Given the description of an element on the screen output the (x, y) to click on. 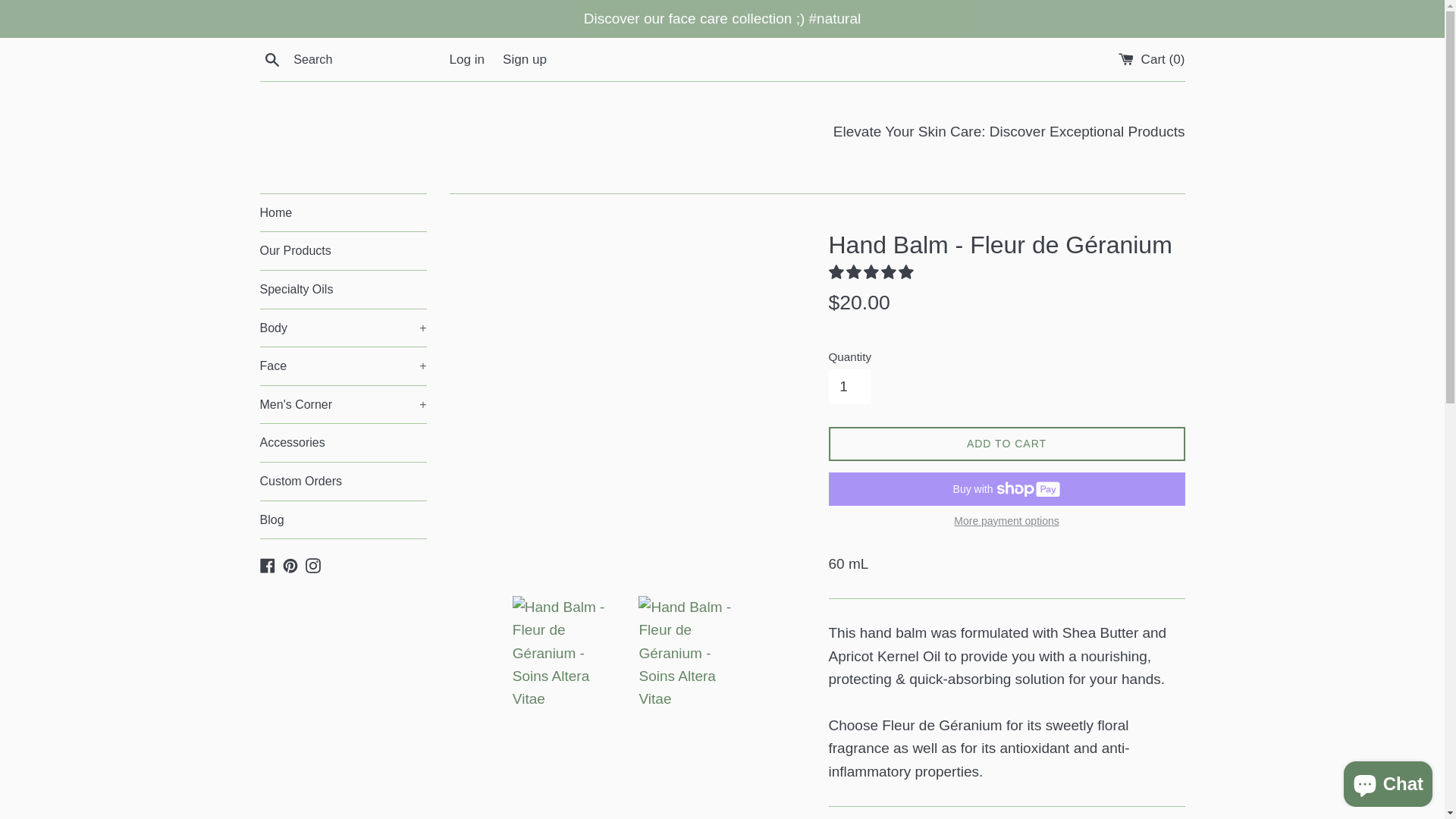
Accessories Element type: text (342, 442)
ADD TO CART Element type: text (1006, 443)
Discover our face care collection ;) #natural Element type: text (722, 18)
Our Products Element type: text (342, 250)
Facebook Element type: text (266, 564)
Face
+ Element type: text (342, 366)
Men's Corner
+ Element type: text (342, 404)
More payment options Element type: text (1006, 520)
Log in Element type: text (466, 59)
Instagram Element type: text (312, 564)
Search Element type: text (271, 59)
Cart (0) Element type: text (1151, 59)
Home Element type: text (342, 213)
Custom Orders Element type: text (342, 481)
Shopify online store chat Element type: hover (1388, 780)
Specialty Oils Element type: text (342, 289)
Blog Element type: text (342, 520)
Pinterest Element type: text (290, 564)
Body
+ Element type: text (342, 328)
Sign up Element type: text (524, 59)
